Given the description of an element on the screen output the (x, y) to click on. 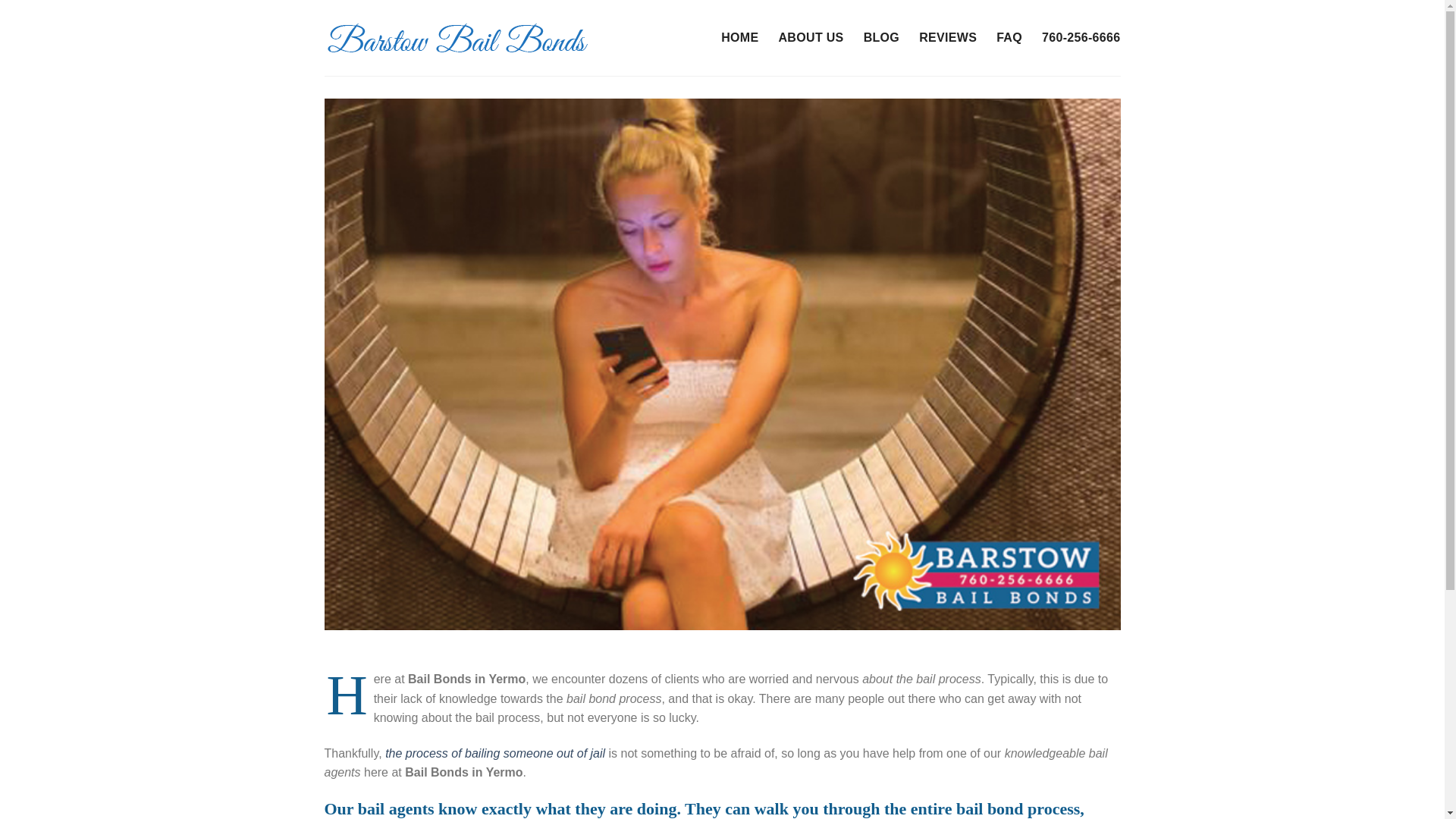
REVIEWS (947, 37)
the process of bailing someone out of jail (495, 753)
760-256-6666 (1080, 37)
HOME (739, 37)
FAQ (1008, 37)
ABOUT US (810, 37)
Barstow Bail Bonds (464, 37)
BLOG (881, 37)
